Given the description of an element on the screen output the (x, y) to click on. 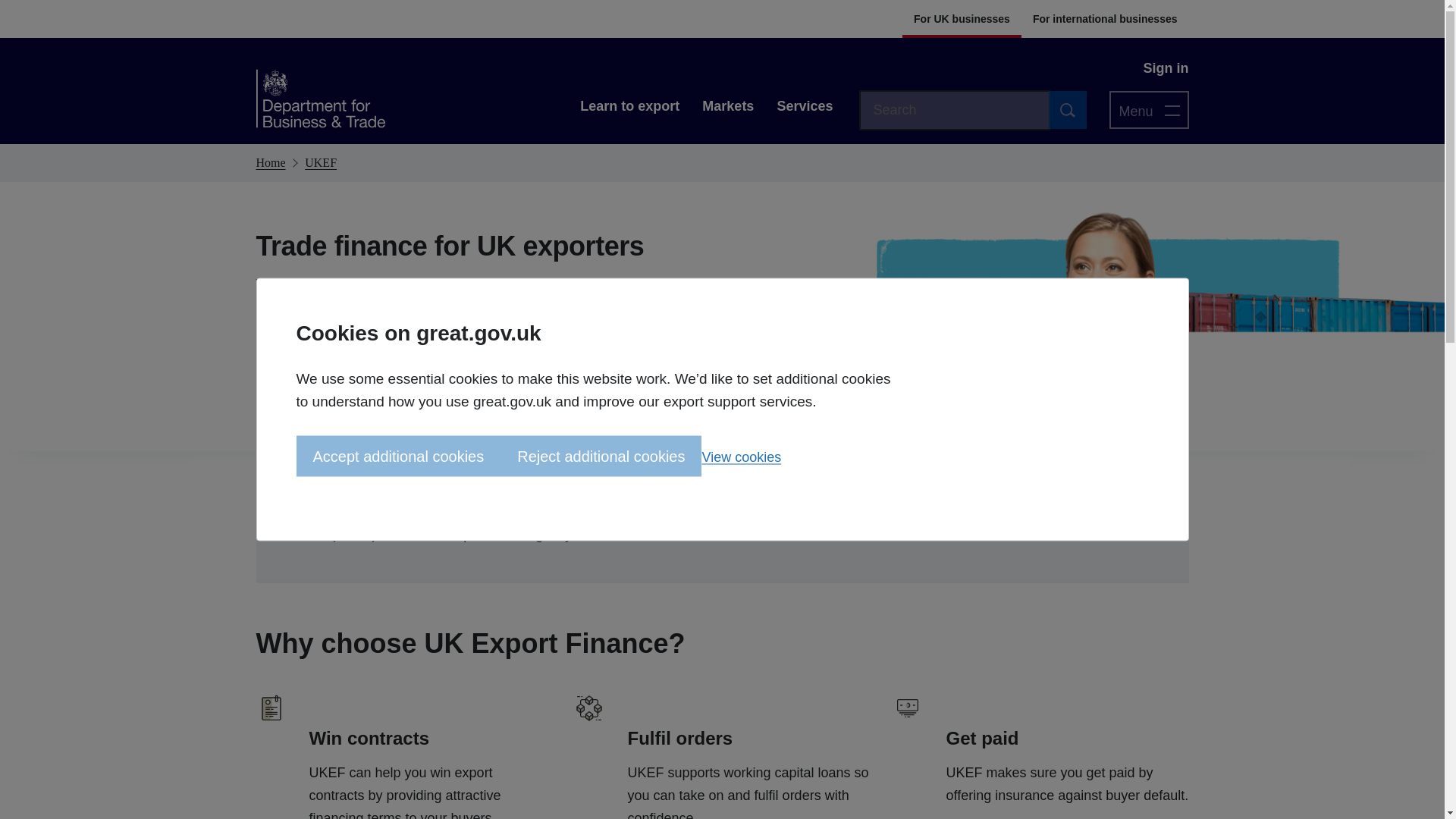
UKEF (320, 162)
For international businesses (1105, 18)
Home (270, 162)
Menu (1148, 109)
Sign in (1165, 67)
Reject additional cookies (600, 454)
Learn to export (629, 105)
Services (804, 105)
Accept additional cookies (397, 454)
